Given the description of an element on the screen output the (x, y) to click on. 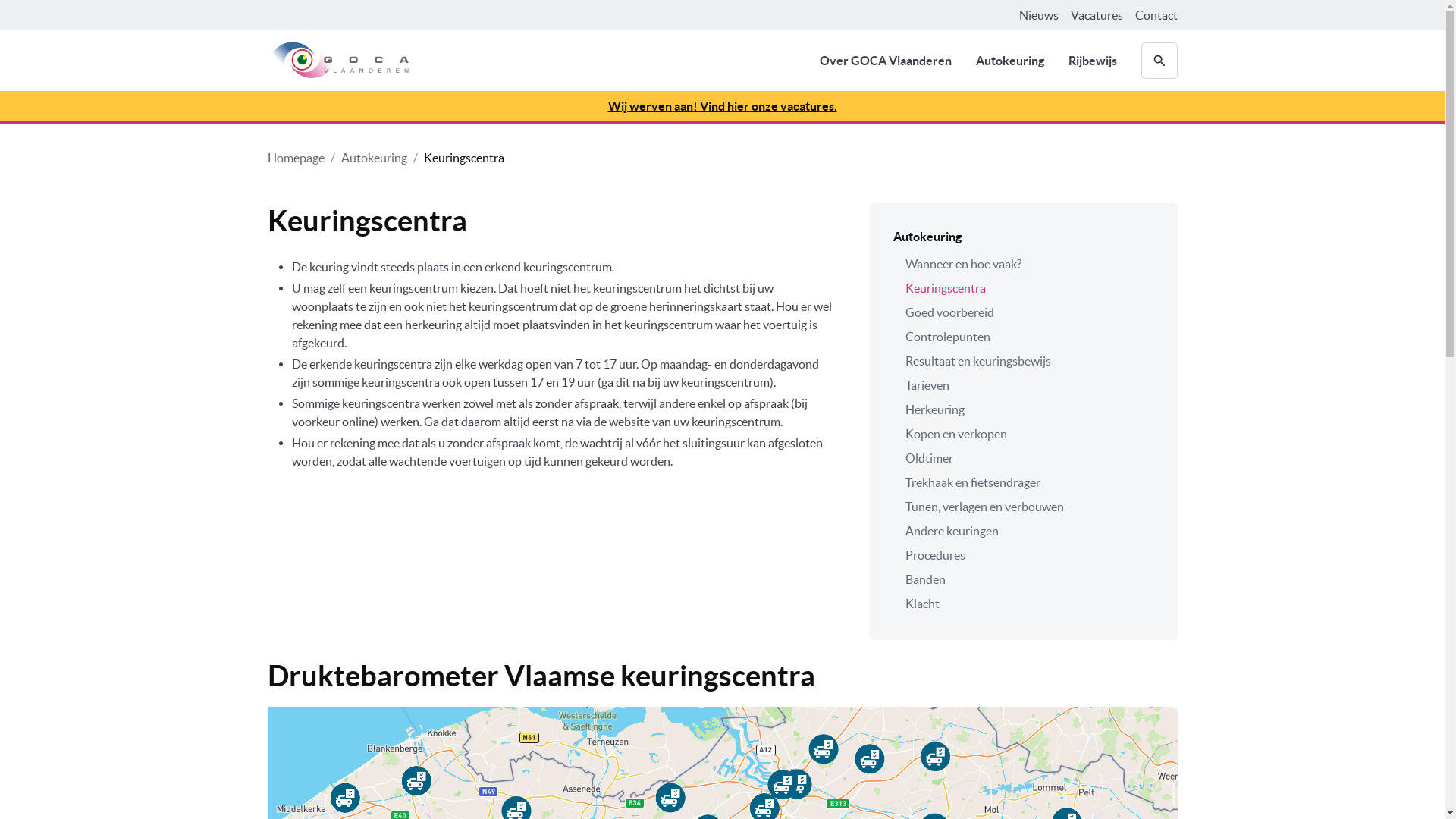
Trekhaak en fietsendrager Element type: text (1023, 482)
Procedures Element type: text (1023, 554)
Keuringscentra Element type: text (1023, 288)
Contact Element type: text (1155, 14)
Over GOCA Vlaanderen Element type: text (884, 60)
Klacht Element type: text (1023, 603)
Tarieven Element type: text (1023, 385)
Vacatures Element type: text (1096, 14)
Herkeuring Element type: text (1023, 409)
Goed voorbereid Element type: text (1023, 312)
Tunen, verlagen en verbouwen Element type: text (1023, 506)
Autokeuring Element type: text (1009, 60)
Resultaat en keuringsbewijs Element type: text (1023, 360)
Keuringscentra Element type: text (463, 157)
Wij werven aan! Vind hier onze vacatures. Element type: text (722, 106)
Autokeuring Element type: text (374, 157)
Controlepunten Element type: text (1023, 336)
Banden Element type: text (1023, 579)
Wanneer en hoe vaak? Element type: text (1023, 263)
Kopen en verkopen Element type: text (1023, 433)
Oldtimer Element type: text (1023, 457)
Nieuws Element type: text (1038, 14)
Rijbewijs Element type: text (1091, 60)
Andere keuringen Element type: text (1023, 530)
Homepage Element type: text (294, 157)
